Given the description of an element on the screen output the (x, y) to click on. 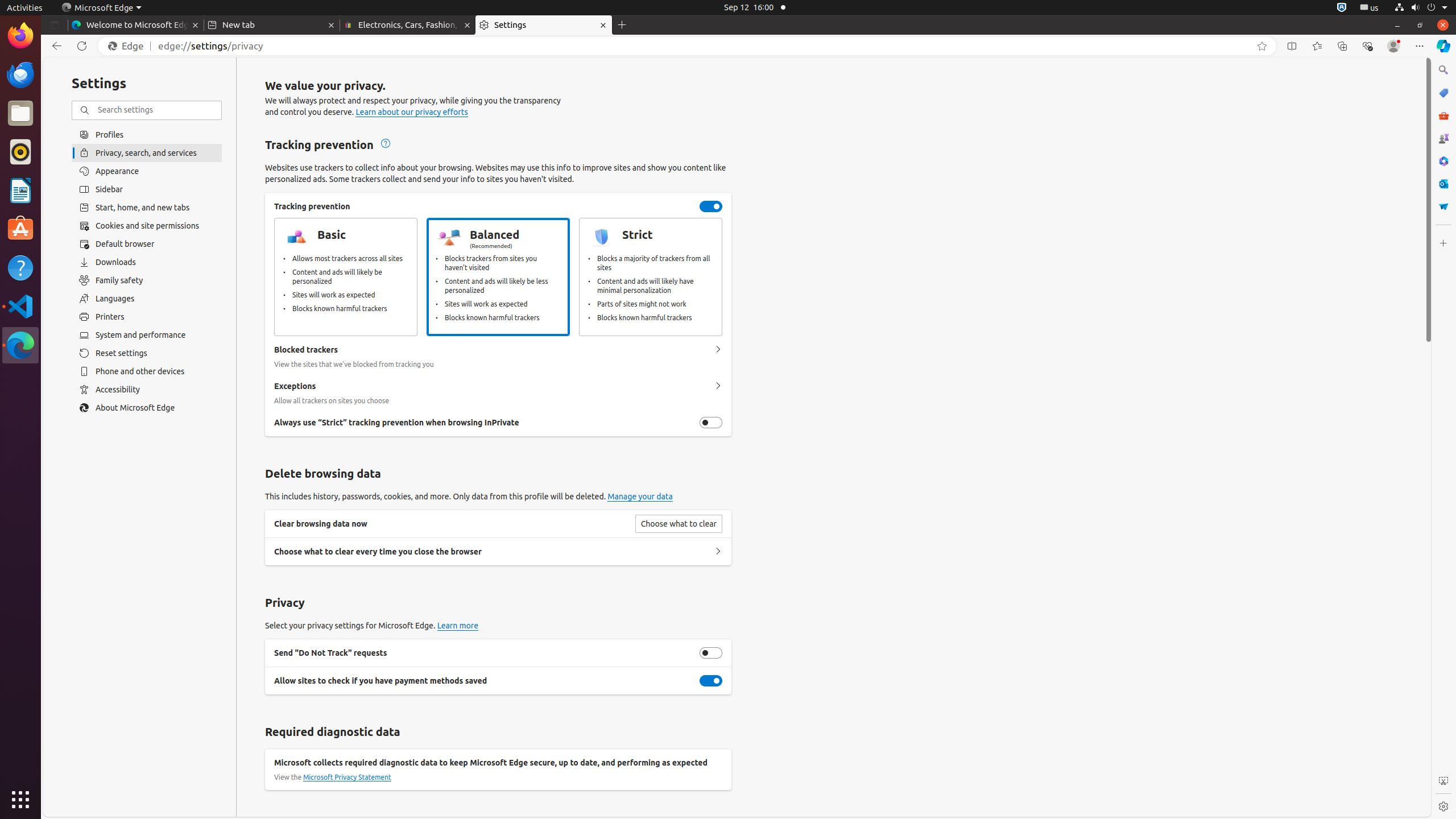
Accessibility Element type: tree-item (146, 389)
Refresh Element type: push-button (81, 45)
Show Applications Element type: toggle-button (20, 799)
Favorites Element type: push-button (1316, 45)
Tracking prevention, learn more Element type: push-button (383, 143)
